Given the description of an element on the screen output the (x, y) to click on. 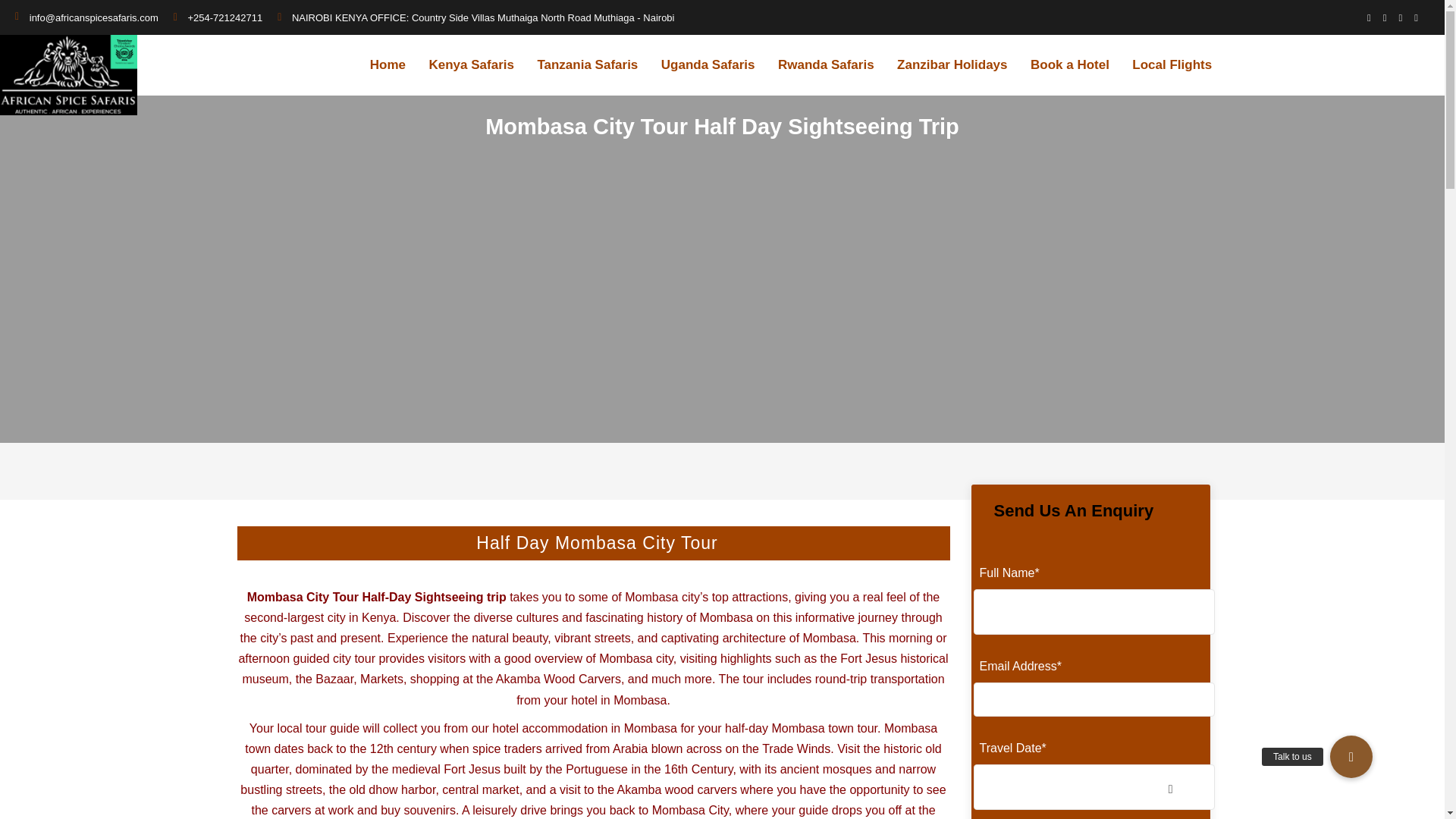
Rwanda Safaris (825, 64)
Book a Hotel (1069, 64)
Tanzania Safaris (587, 64)
Home (387, 64)
Mombasa (651, 596)
Zanzibar Holidays (951, 64)
Uganda Safaris (708, 64)
Local Flights (1171, 64)
Kenya Safaris (470, 64)
